Given the description of an element on the screen output the (x, y) to click on. 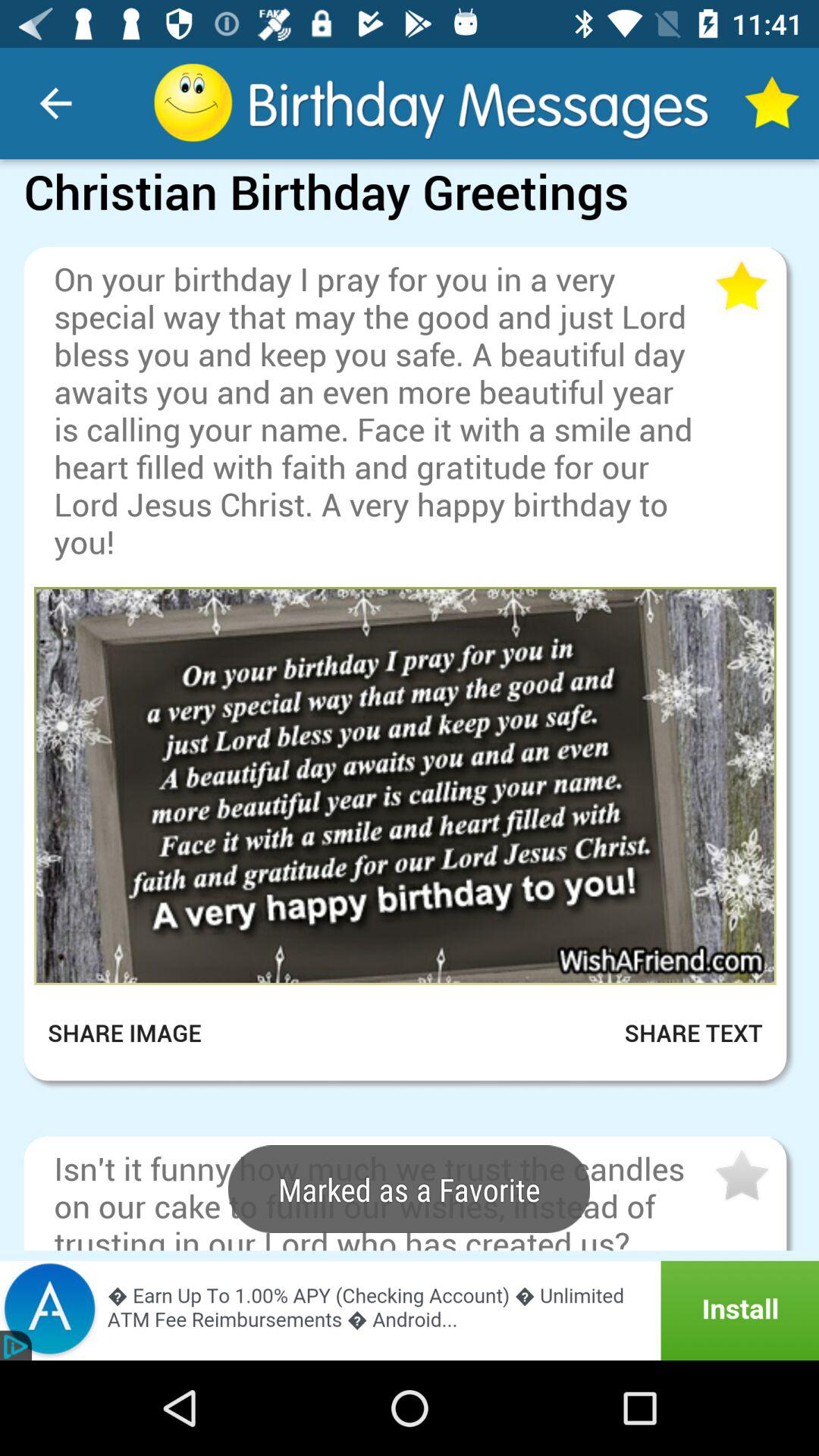
select item below the isn t it item (409, 1310)
